Given the description of an element on the screen output the (x, y) to click on. 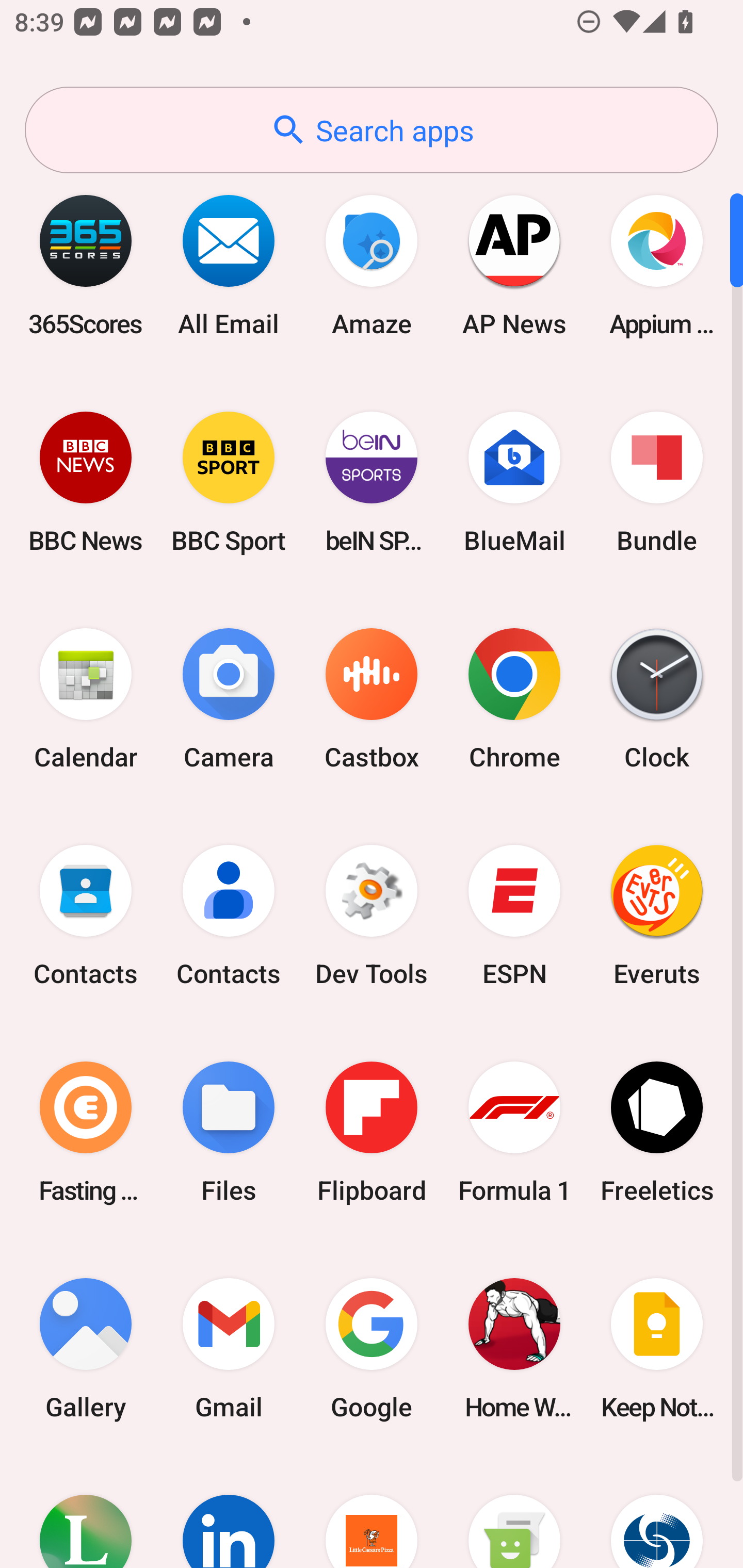
  Search apps (371, 130)
365Scores (85, 264)
All Email (228, 264)
Amaze (371, 264)
AP News (514, 264)
Appium Settings (656, 264)
BBC News (85, 482)
BBC Sport (228, 482)
beIN SPORTS (371, 482)
BlueMail (514, 482)
Bundle (656, 482)
Calendar (85, 699)
Camera (228, 699)
Castbox (371, 699)
Chrome (514, 699)
Clock (656, 699)
Contacts (85, 915)
Contacts (228, 915)
Dev Tools (371, 915)
ESPN (514, 915)
Everuts (656, 915)
Fasting Coach (85, 1131)
Files (228, 1131)
Flipboard (371, 1131)
Formula 1 (514, 1131)
Freeletics (656, 1131)
Gallery (85, 1348)
Gmail (228, 1348)
Google (371, 1348)
Home Workout (514, 1348)
Keep Notes (656, 1348)
